Given the description of an element on the screen output the (x, y) to click on. 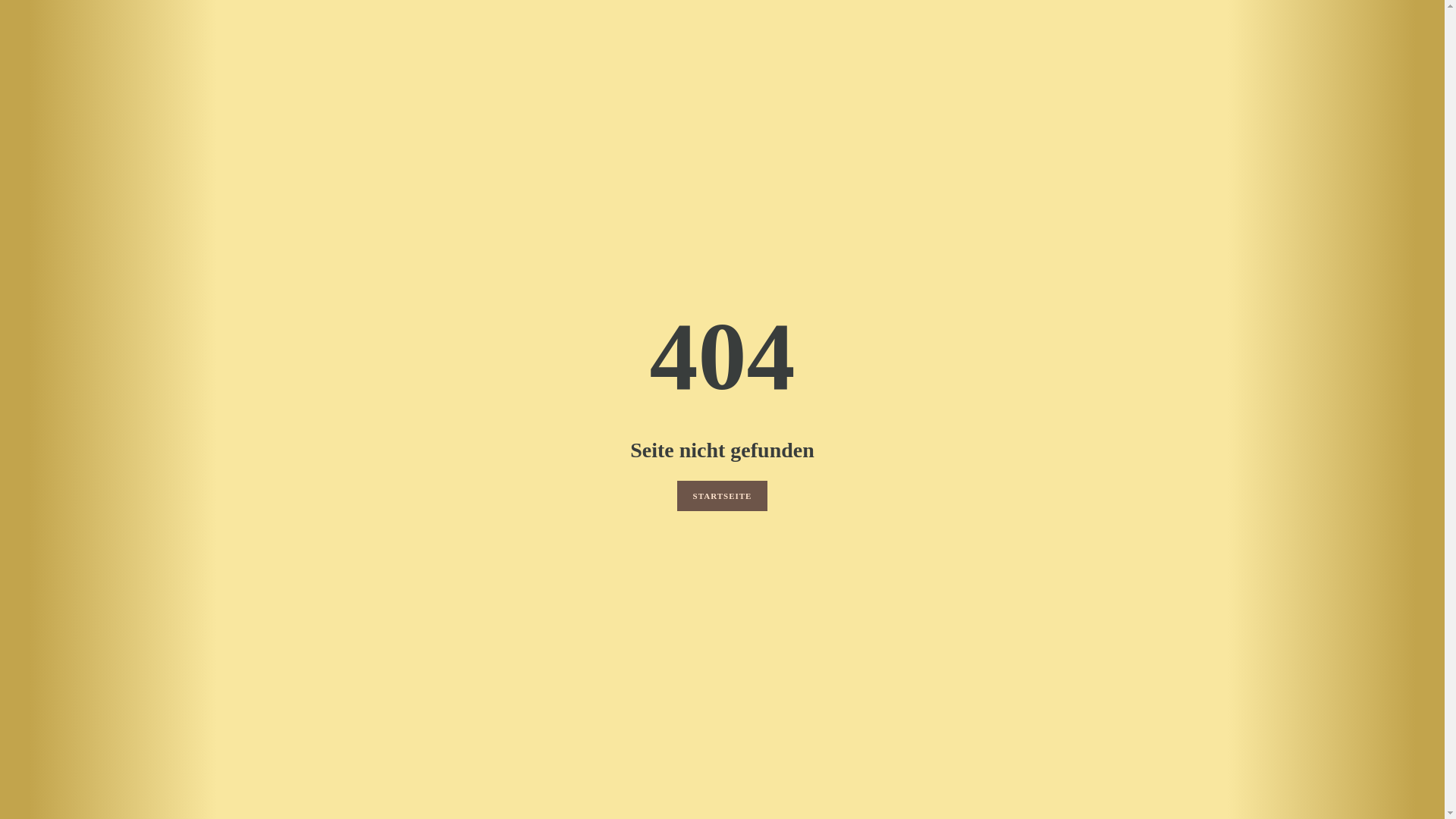
STARTSEITE Element type: text (722, 495)
